Given the description of an element on the screen output the (x, y) to click on. 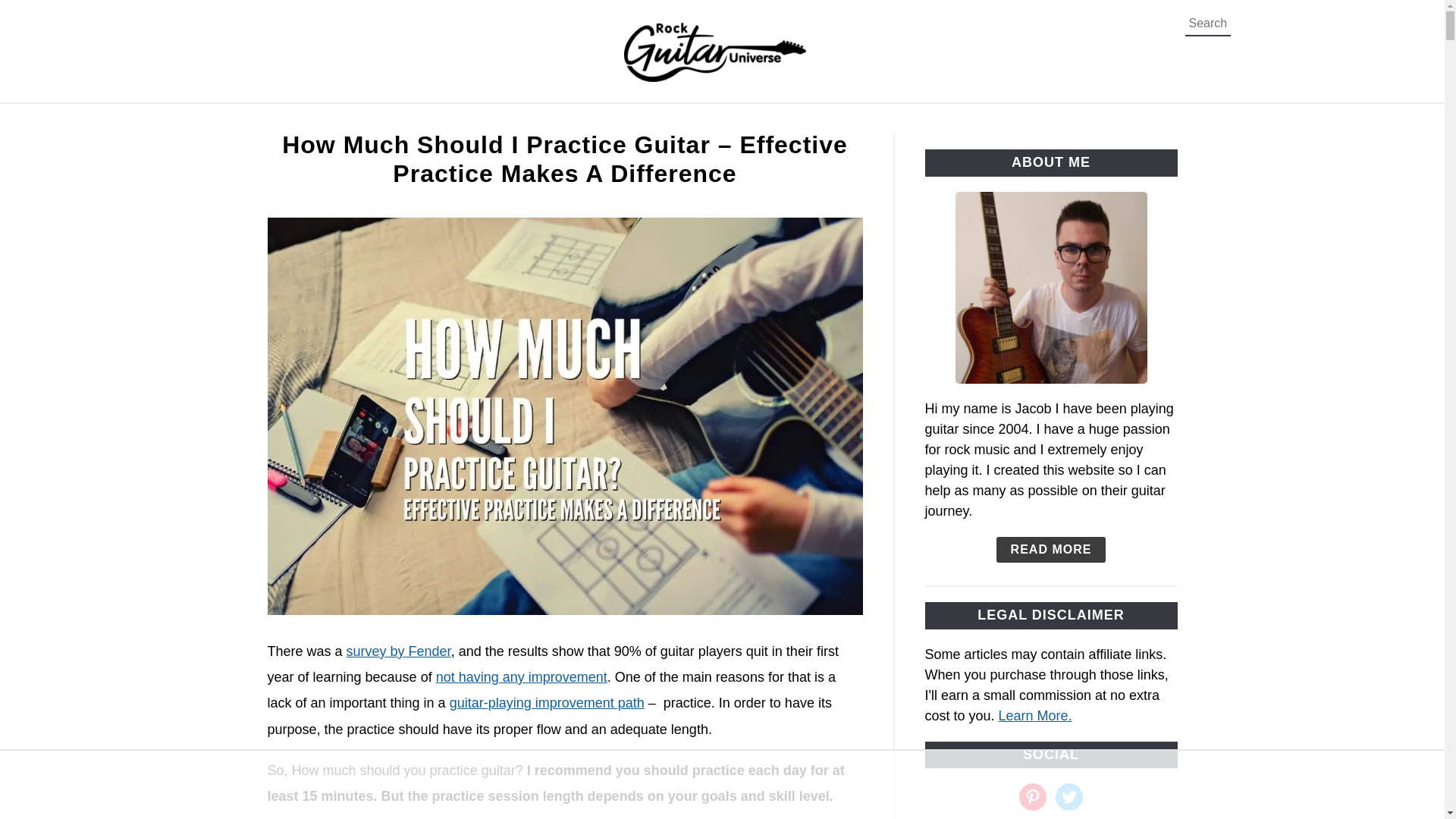
COMPARISONS (566, 120)
LEARN A SONG (922, 120)
PRODUCT REVIEW (1066, 120)
GEAR (466, 120)
MAINTENANCE (697, 120)
guitar-playing improvement path (547, 702)
LESSONS (809, 120)
not having any improvement (521, 676)
HOME (335, 120)
TIPS (401, 120)
survey by Fender (398, 651)
